Given the description of an element on the screen output the (x, y) to click on. 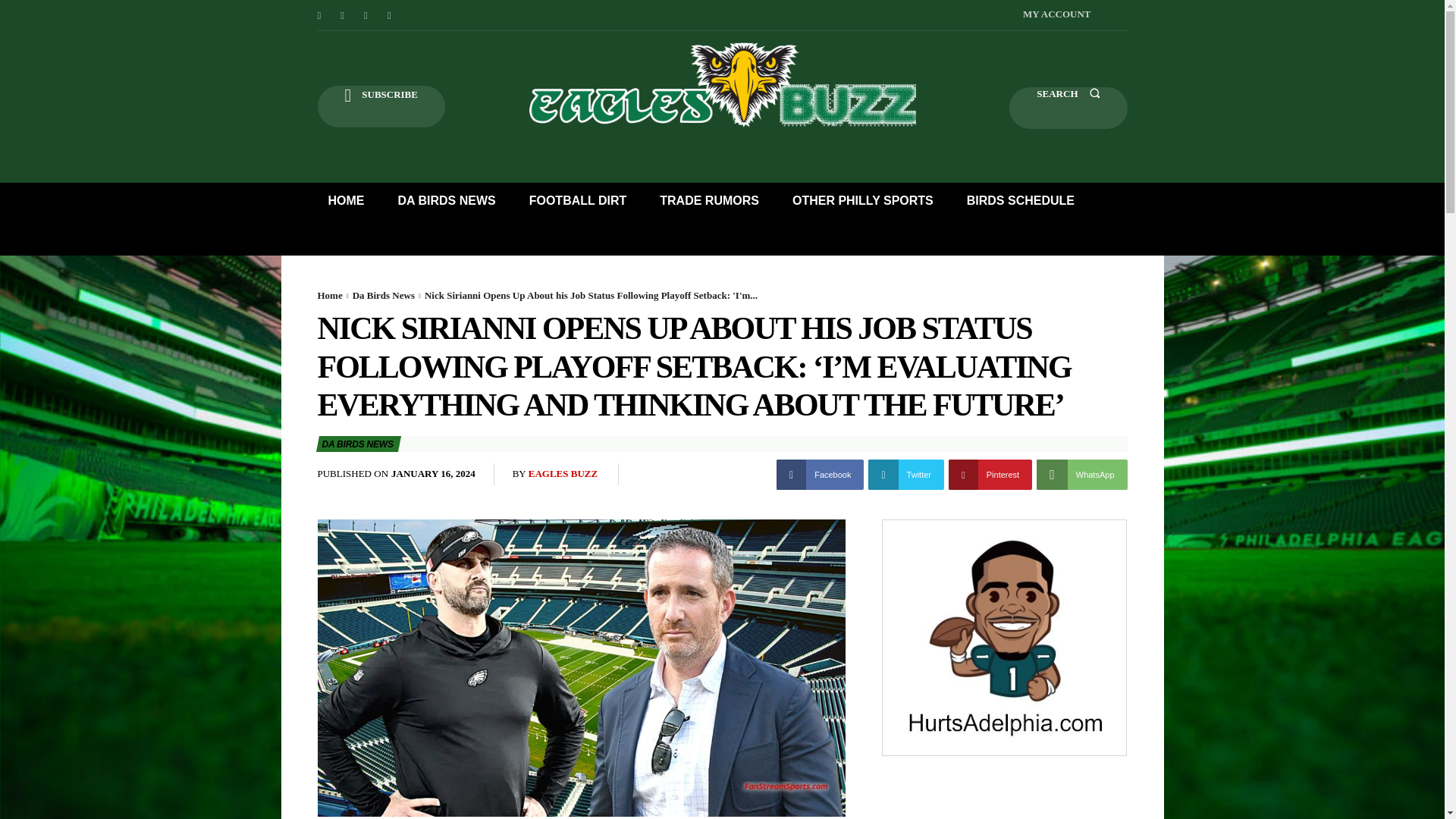
Twitter (905, 474)
BIRDS SCHEDULE (1020, 200)
DA BIRDS NEWS (446, 200)
FOOTBALL DIRT (577, 200)
Home (329, 295)
HOME (345, 200)
SEARCH (1067, 107)
TRADE RUMORS (709, 200)
Subscribe (380, 106)
Facebook (318, 15)
OTHER PHILLY SPORTS (862, 200)
Instagram (342, 15)
Twitter (389, 15)
Da Birds News (383, 295)
TikTok (366, 15)
